Given the description of an element on the screen output the (x, y) to click on. 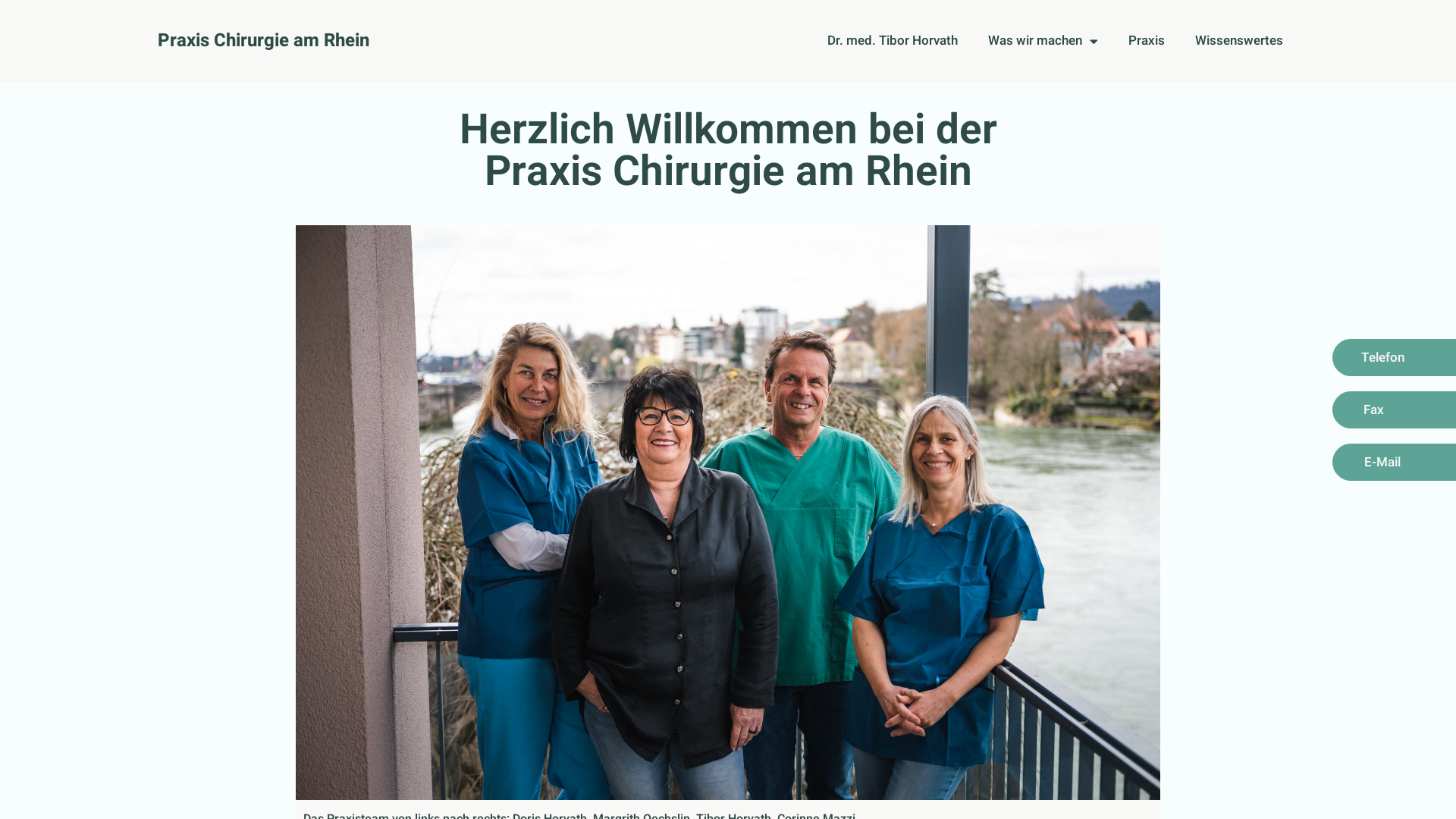
Dr. med. Tibor Horvath Element type: text (892, 40)
Wissenswertes Element type: text (1238, 40)
Praxis Element type: text (1146, 40)
Was wir machen Element type: text (1042, 40)
Praxis Chirurgie am Rhein Element type: text (263, 40)
